Given the description of an element on the screen output the (x, y) to click on. 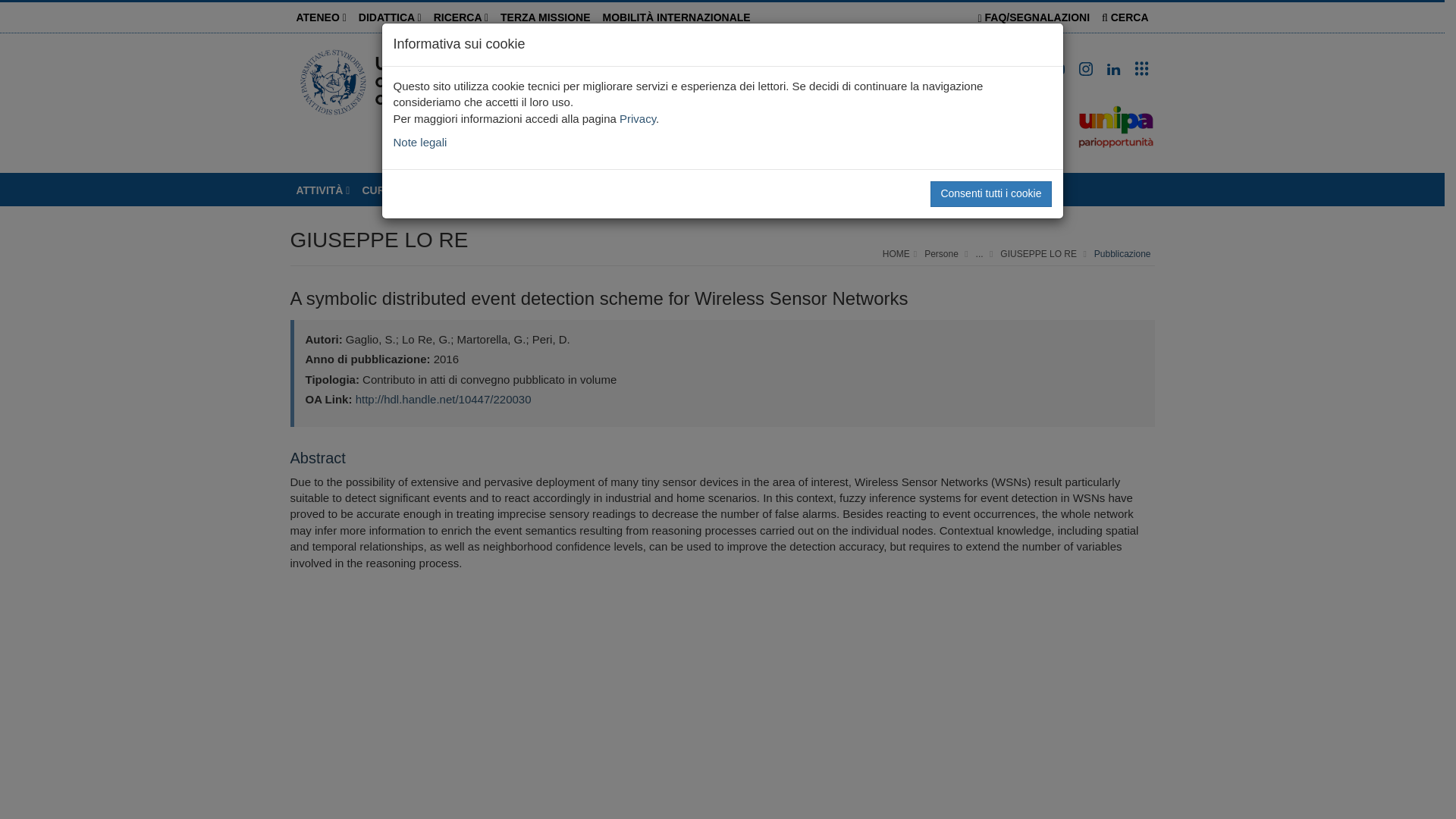
Ateneo (320, 17)
Didattica (390, 17)
RICERCA  (461, 17)
DIDATTICA  (390, 17)
ATENEO  (320, 17)
